Given the description of an element on the screen output the (x, y) to click on. 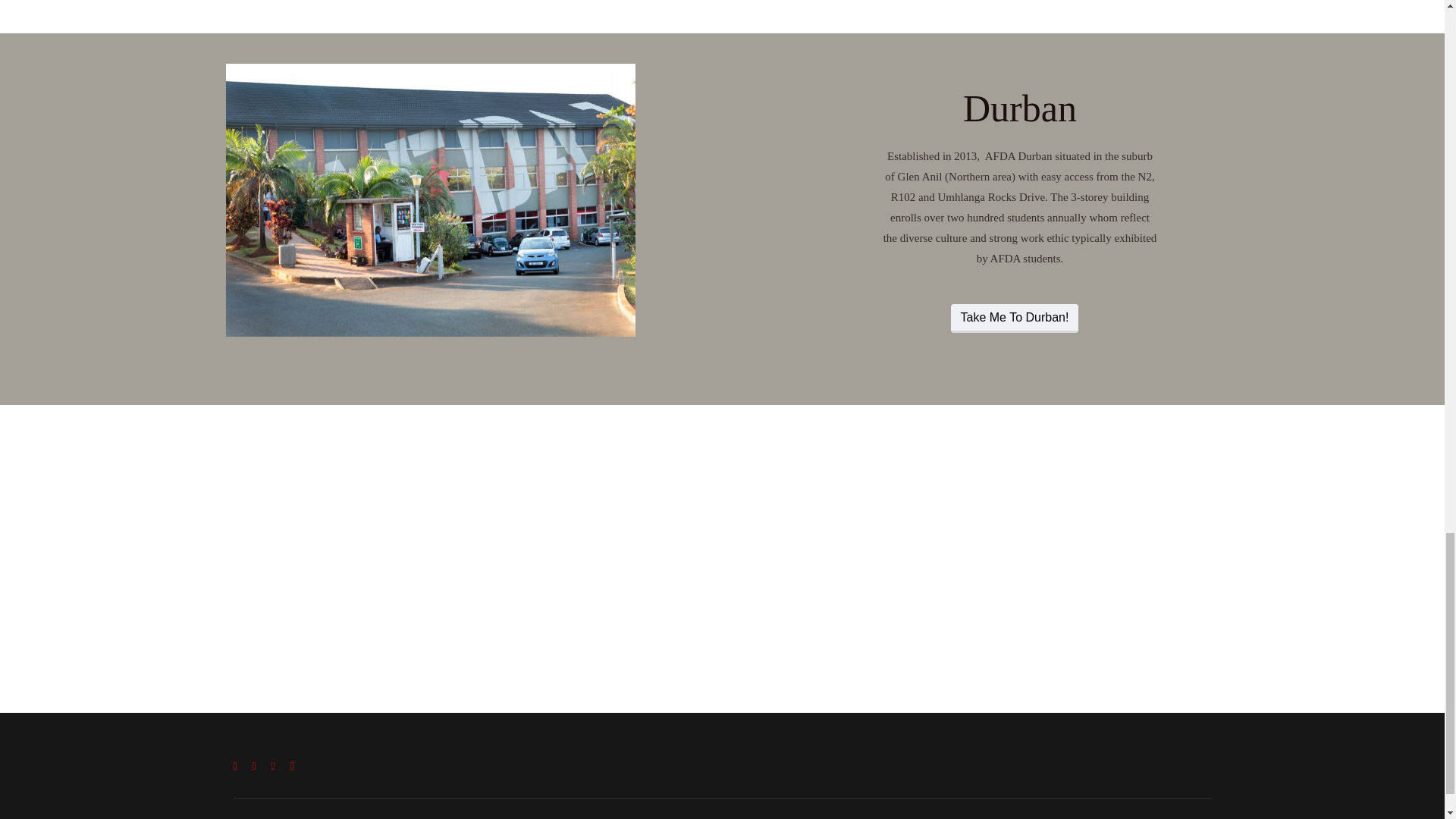
Take Me To Durban! (1014, 317)
